Given the description of an element on the screen output the (x, y) to click on. 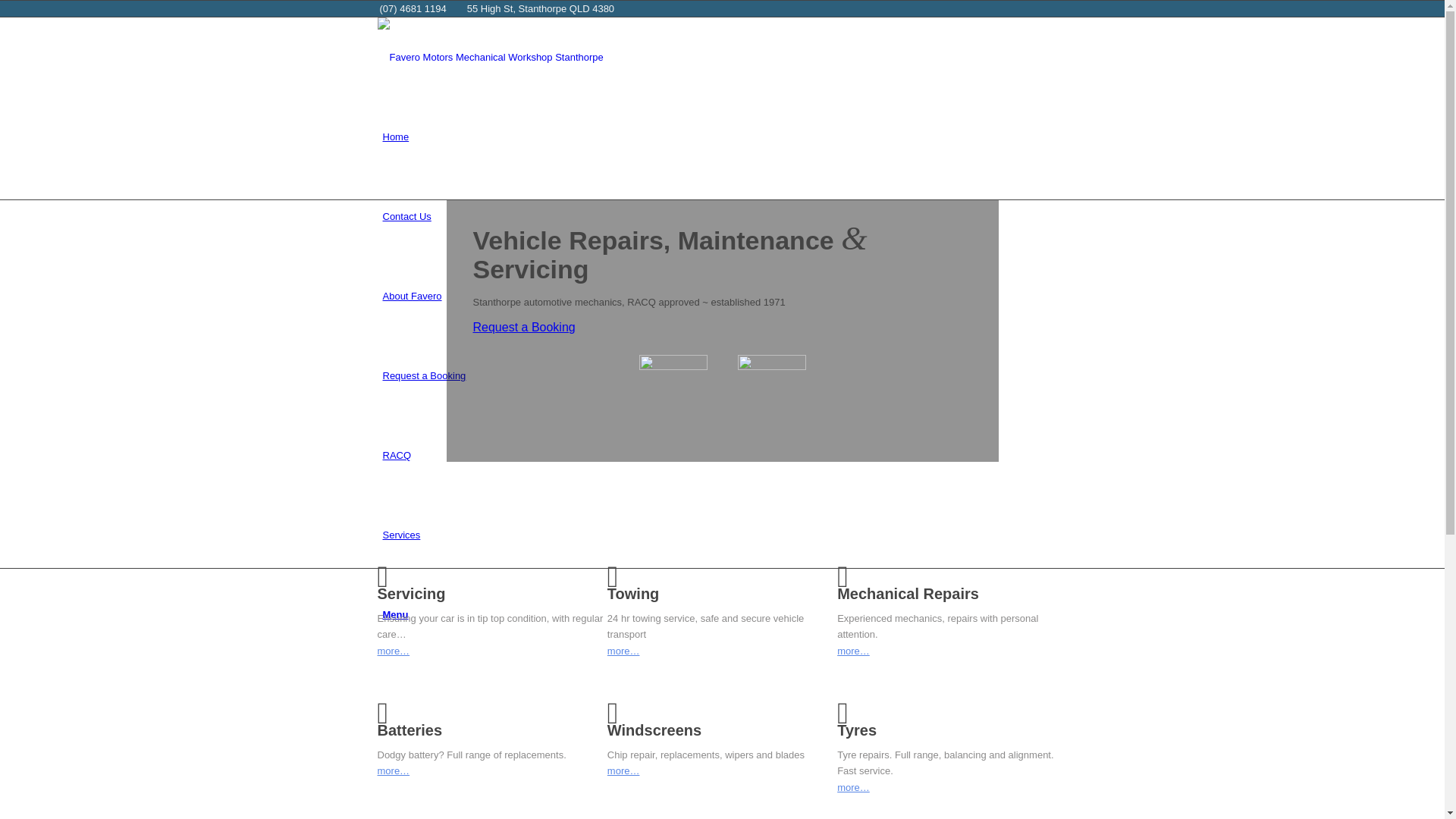
Request a Booking Element type: text (524, 327)
Request a Booking Element type: text (423, 375)
Home Element type: text (395, 136)
RACQ Element type: text (396, 455)
Menu Element type: text (394, 614)
Services Element type: text (401, 534)
About Favero Element type: text (411, 295)
Contact Us Element type: text (406, 216)
